Given the description of an element on the screen output the (x, y) to click on. 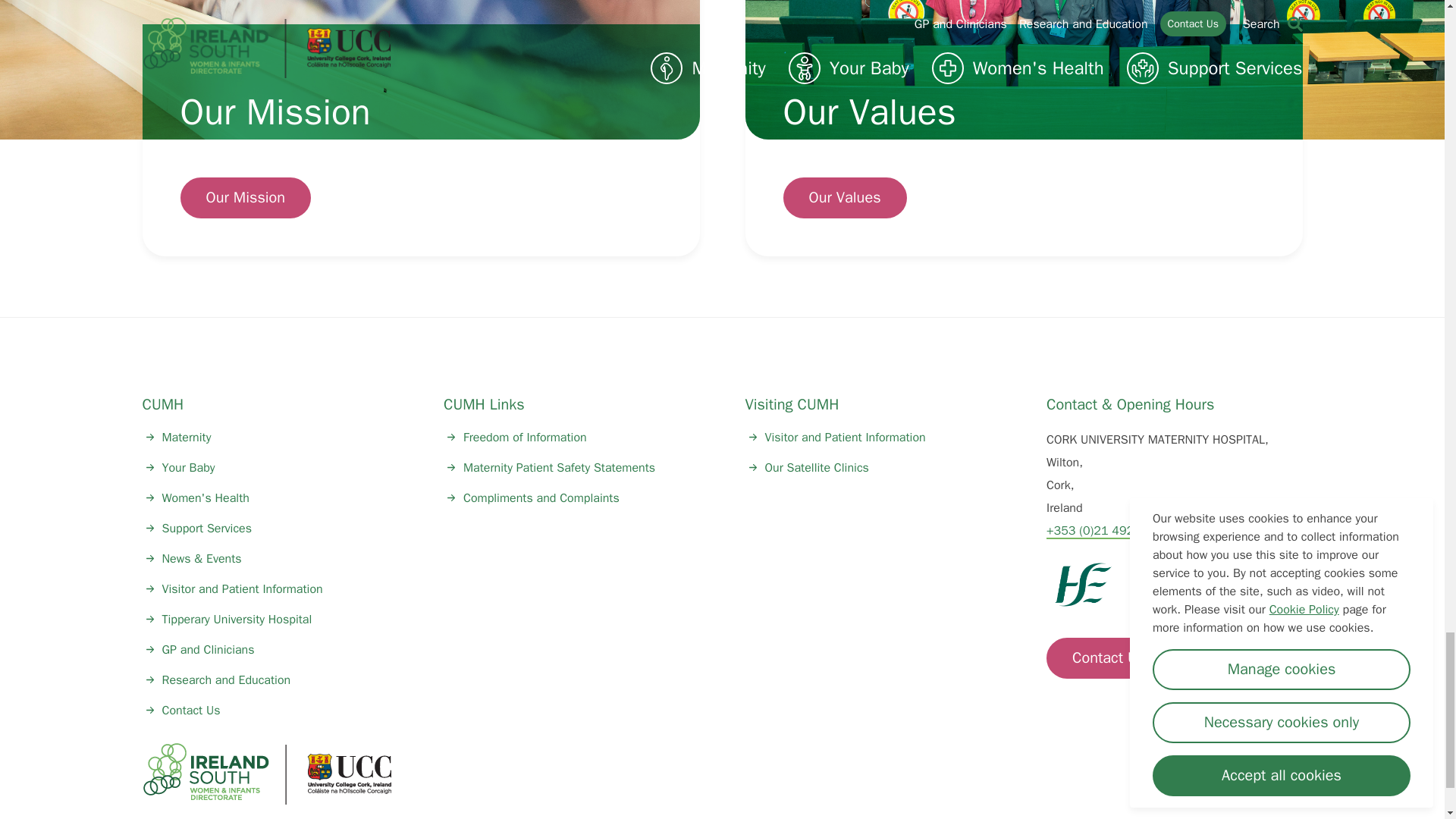
Instagram (1284, 774)
Youtube (1242, 774)
Linkedin (1198, 774)
Twitter (1156, 774)
HSE-Logo-Green-PNG (1082, 584)
